Given the description of an element on the screen output the (x, y) to click on. 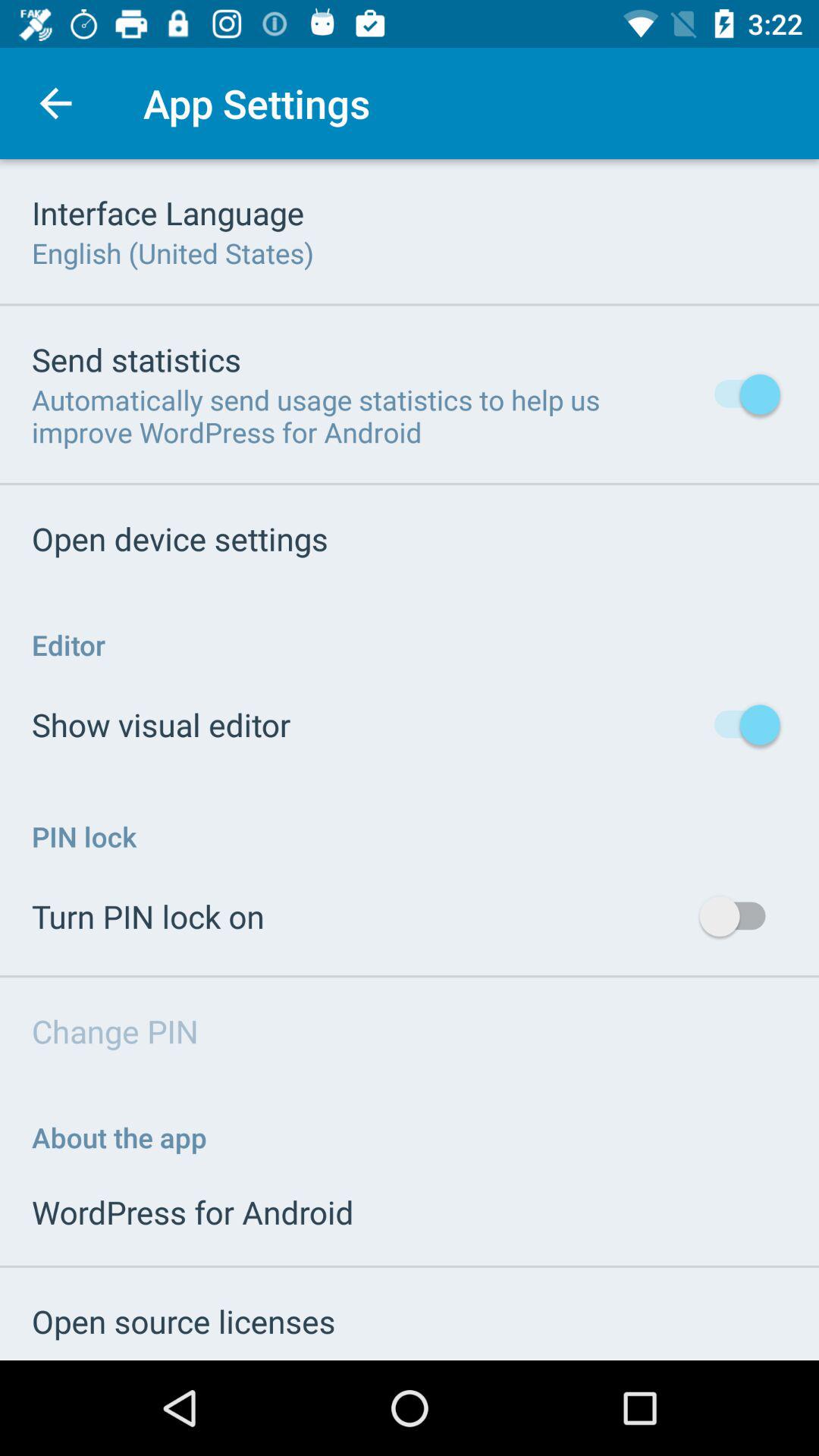
choose icon below the automatically send usage item (179, 538)
